Given the description of an element on the screen output the (x, y) to click on. 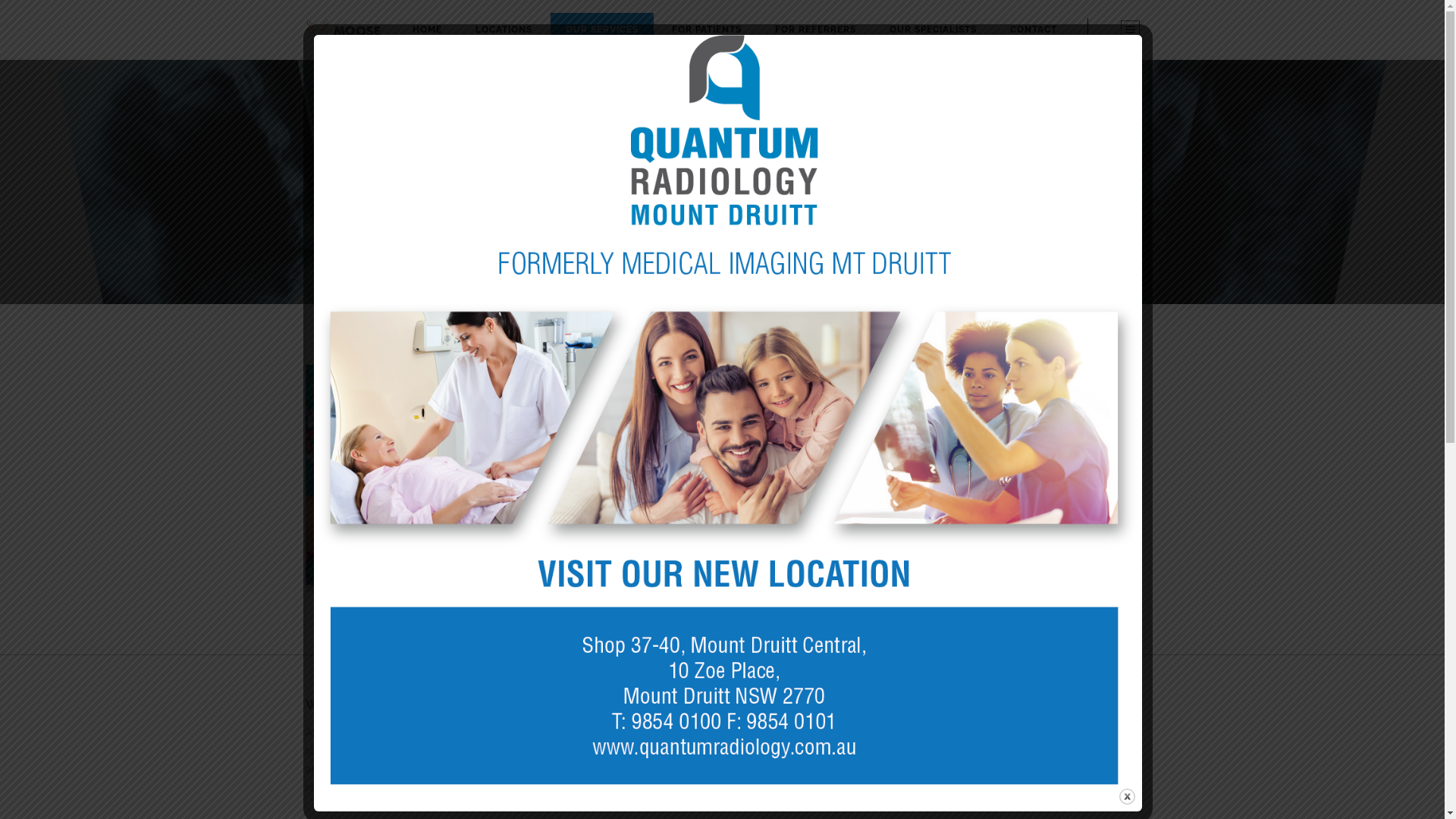
FOR PATIENTS Element type: text (706, 29)
LOCATIONS Element type: text (502, 29)
OUR SERVICES Element type: text (601, 29)
HOME Element type: text (427, 29)
OUR SPECIALISTS Element type: text (932, 29)
CONTACT Element type: text (1033, 29)
  Element type: text (1129, 29)
FOR REFERRERS Element type: text (815, 29)
Close Element type: hover (1127, 796)
